Given the description of an element on the screen output the (x, y) to click on. 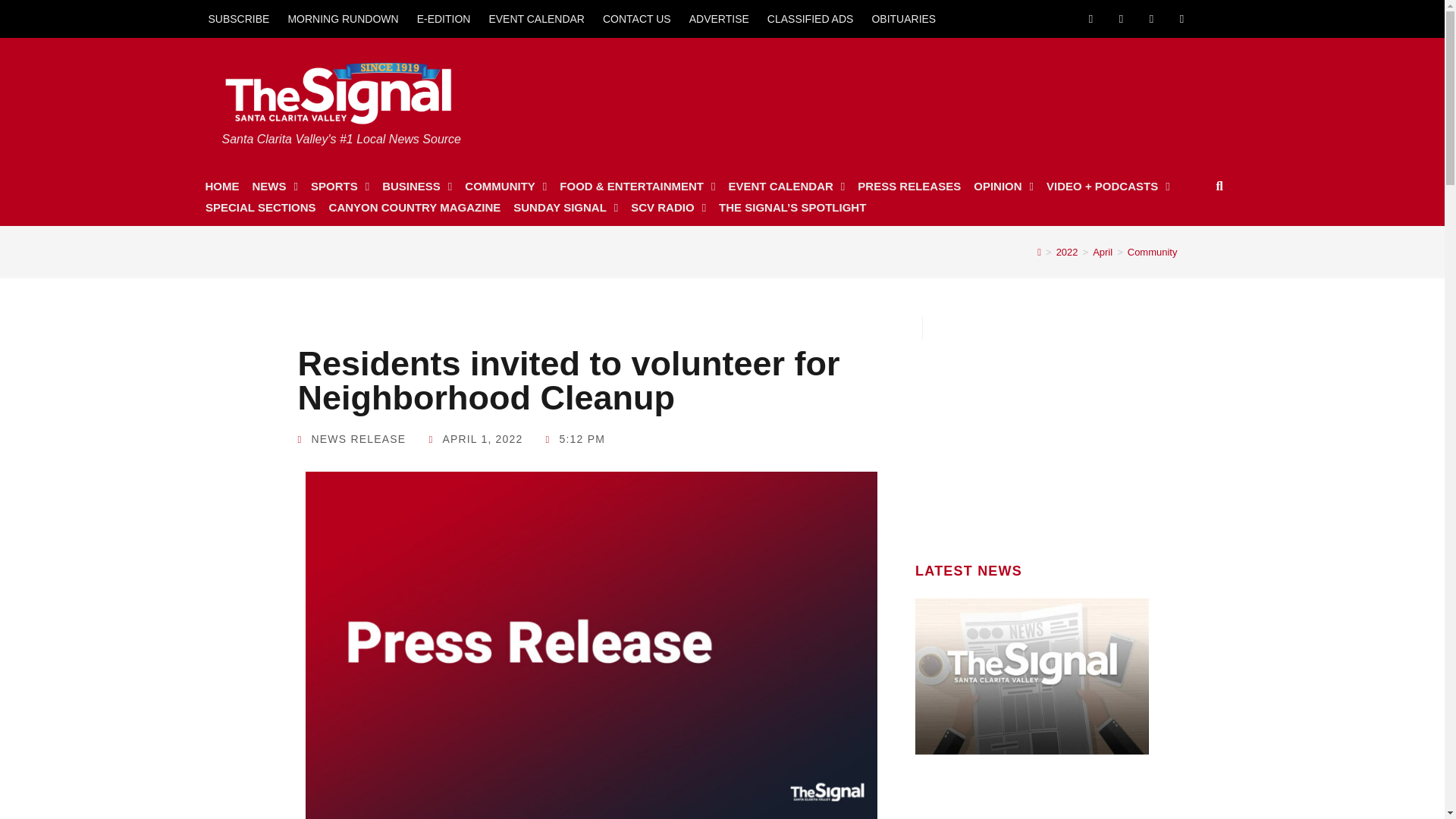
OBITUARIES (902, 18)
E-EDITION (443, 18)
SUBSCRIBE (238, 18)
SPORTS (339, 186)
CONTACT US (636, 18)
HOME (221, 186)
NEWS (274, 186)
CLASSIFIED ADS (810, 18)
ADVERTISE (718, 18)
EVENT CALENDAR (536, 18)
